Given the description of an element on the screen output the (x, y) to click on. 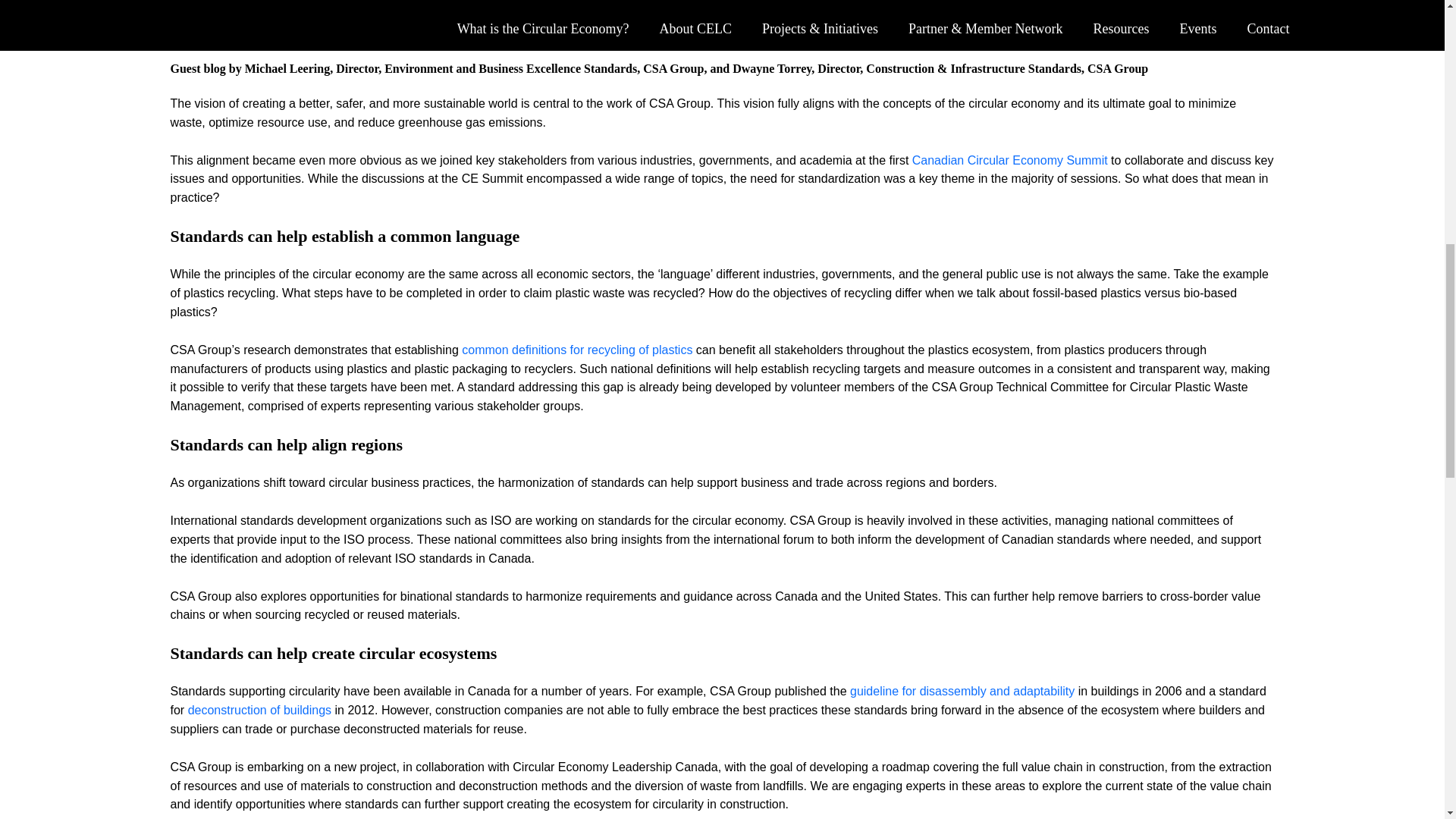
Canadian Circular Economy Summit (1010, 160)
common definitions for recycling of plastics (577, 349)
deconstruction of buildings (259, 709)
guideline for disassembly and adaptability (962, 690)
